Given the description of an element on the screen output the (x, y) to click on. 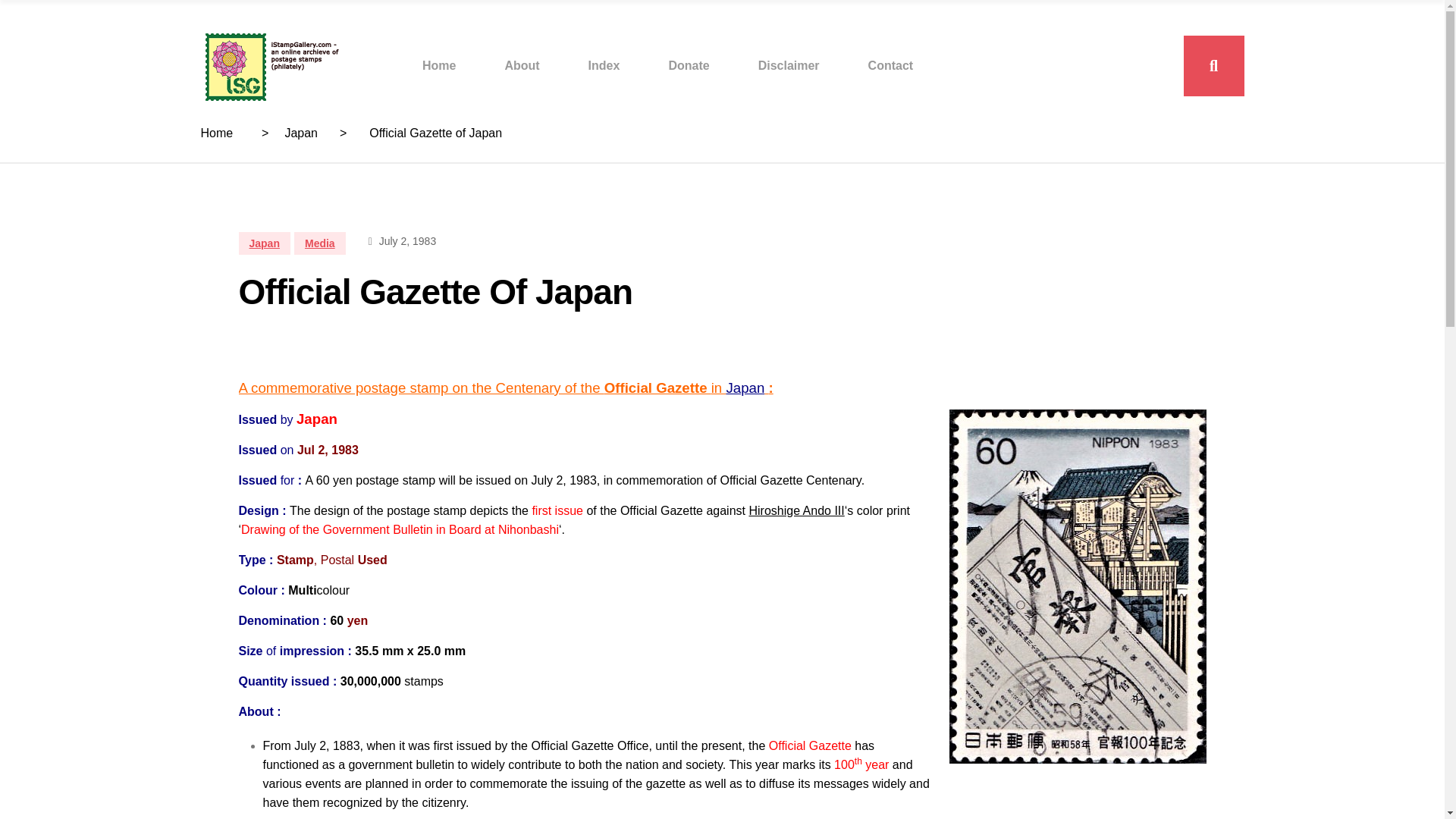
Home (216, 132)
Media (320, 242)
Hiroshige Ando III (796, 510)
Japan (300, 132)
Japan (263, 242)
About (520, 65)
Contact (890, 65)
Disclaimer (788, 65)
Donate (688, 65)
Home (438, 65)
Index (604, 65)
